Given the description of an element on the screen output the (x, y) to click on. 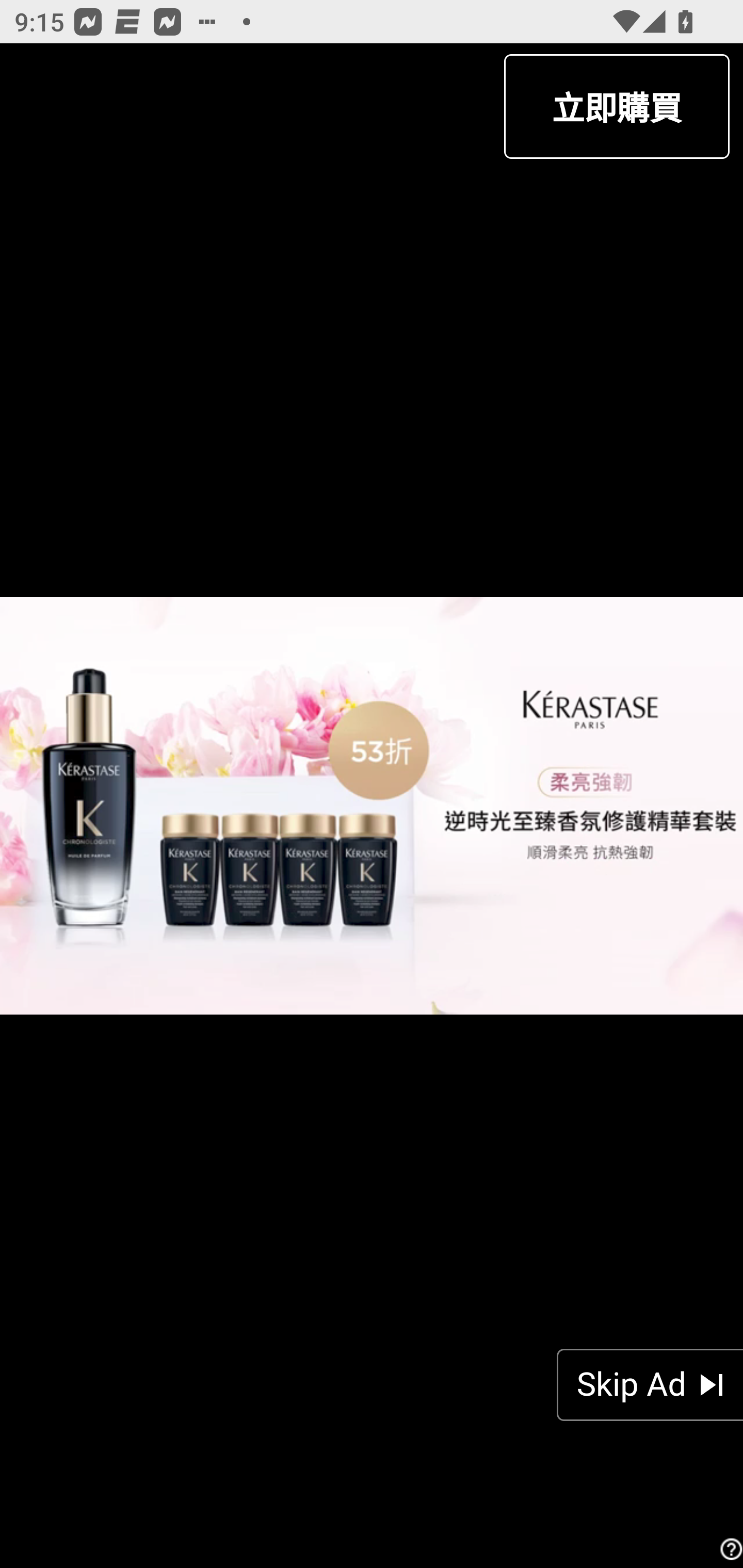
立即購買 (616, 106)
help_outline_white_24dp_with_3px_trbl_padding (728, 1548)
